Given the description of an element on the screen output the (x, y) to click on. 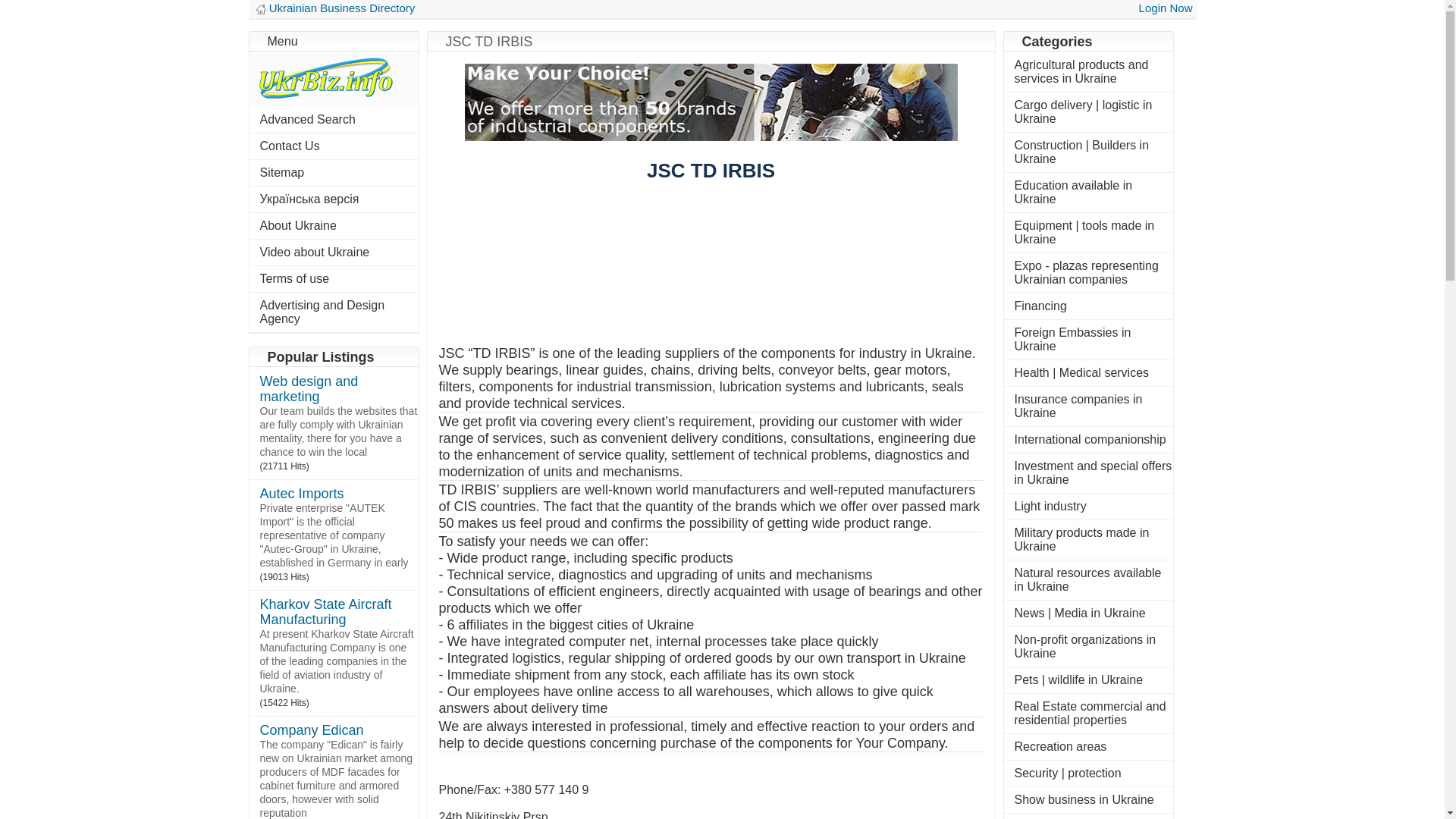
Terms of use (294, 278)
Company Edican (310, 730)
Sitemap (281, 172)
Advertising and Design Agency (321, 311)
Web design and marketing (308, 389)
Ukrainian Business Directory (341, 7)
Autec Imports (301, 493)
Advanced Search (307, 119)
About Ukraine (297, 225)
Kharkov State Aircraft Manufacturing (325, 612)
Video about Ukraine (314, 251)
Contact Us (288, 145)
